Given the description of an element on the screen output the (x, y) to click on. 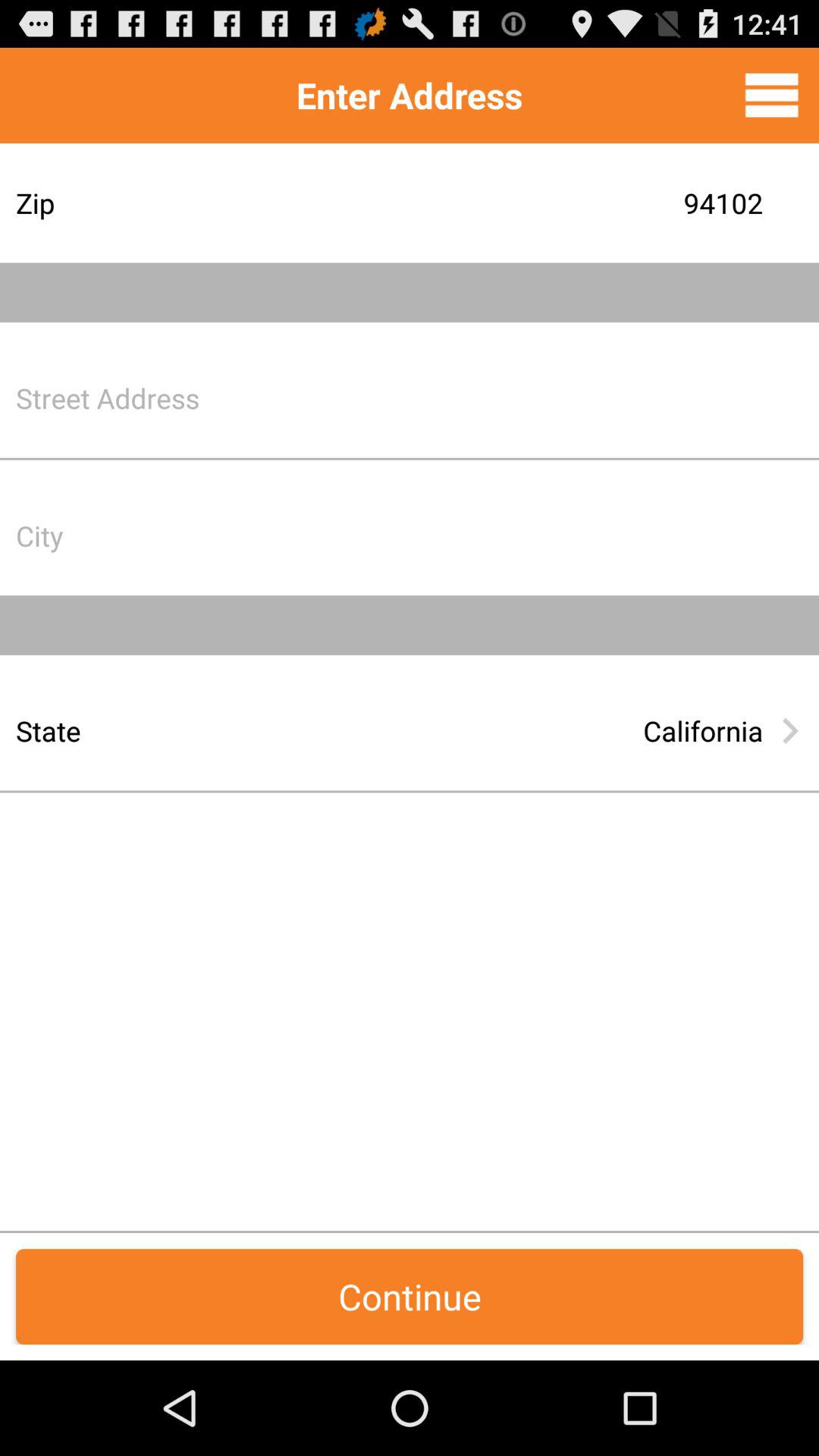
launch the item below enter address item (527, 202)
